Given the description of an element on the screen output the (x, y) to click on. 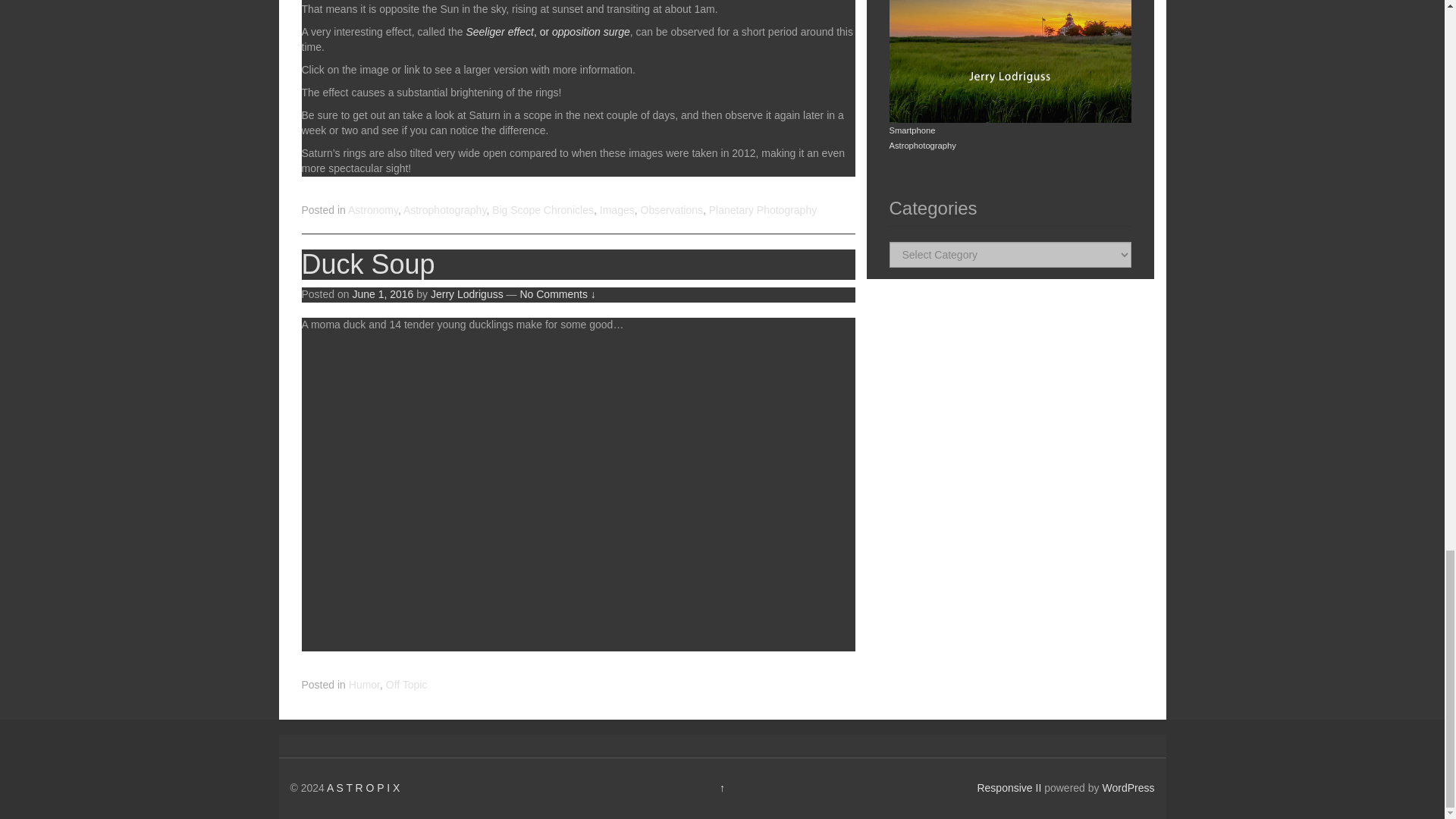
Seeliger effect, or opposition surge (546, 31)
Astrophotography (444, 209)
Planetary Photography (762, 209)
A S T R O P I X (363, 787)
Observations (670, 209)
View all posts by Jerry Lodriguss (466, 294)
Big Scope Chronicles (543, 209)
Images (616, 209)
Duck Soup (368, 264)
7:02 am (382, 294)
Astronomy (372, 209)
